Given the description of an element on the screen output the (x, y) to click on. 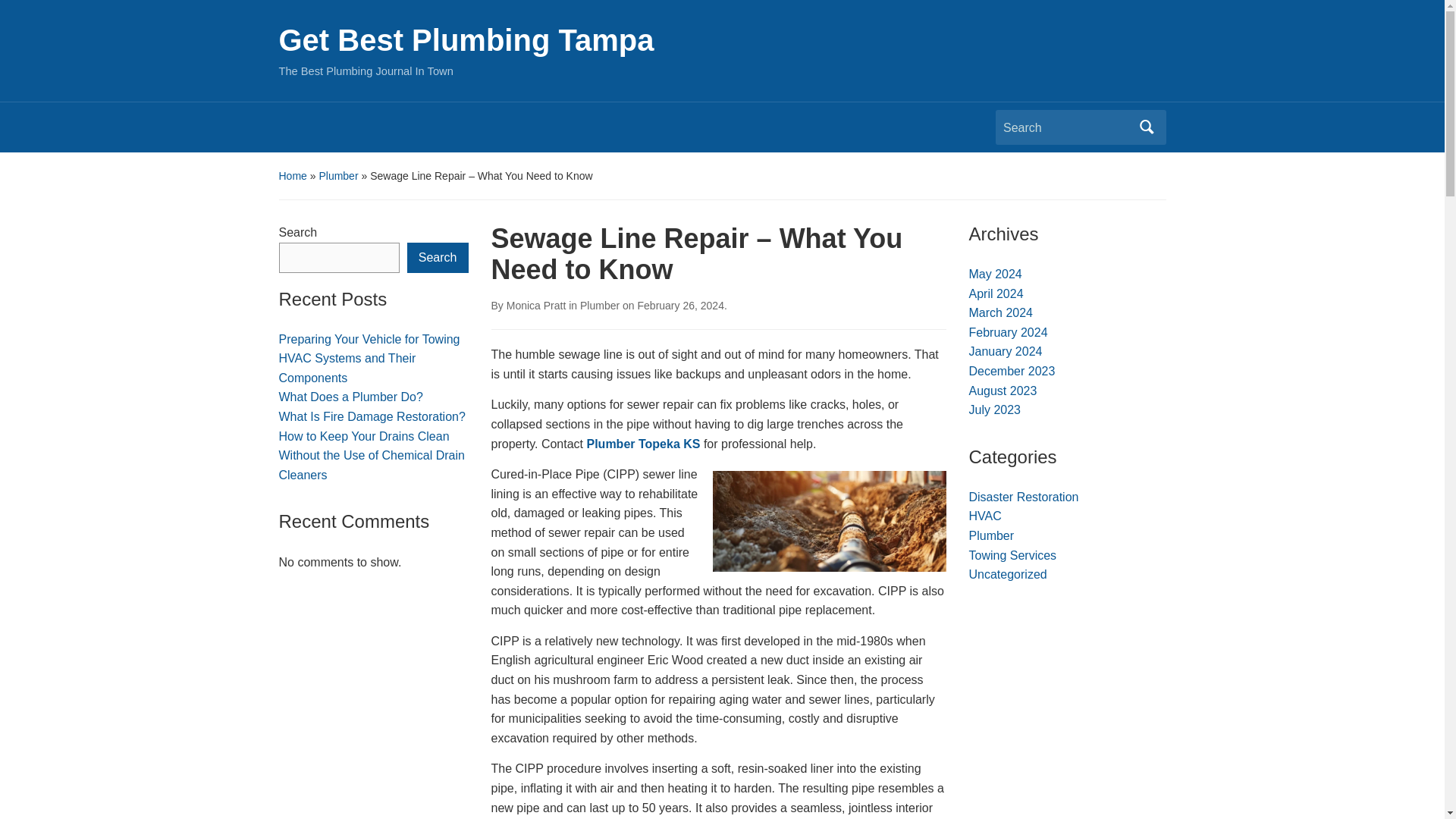
December 2023 (1012, 370)
Uncategorized (1007, 574)
What Does a Plumber Do? (351, 396)
Plumber (991, 535)
Disaster Restoration (1023, 496)
February 26, 2024 (680, 305)
August 2023 (1002, 390)
HVAC Systems and Their Components (347, 368)
Get Best Plumbing Tampa - The Best Plumbing Journal In Town (466, 39)
Home (293, 175)
Plumber (599, 305)
May 2024 (995, 273)
February 2024 (1008, 332)
Plumber Topeka KS (643, 443)
Search (437, 257)
